Given the description of an element on the screen output the (x, y) to click on. 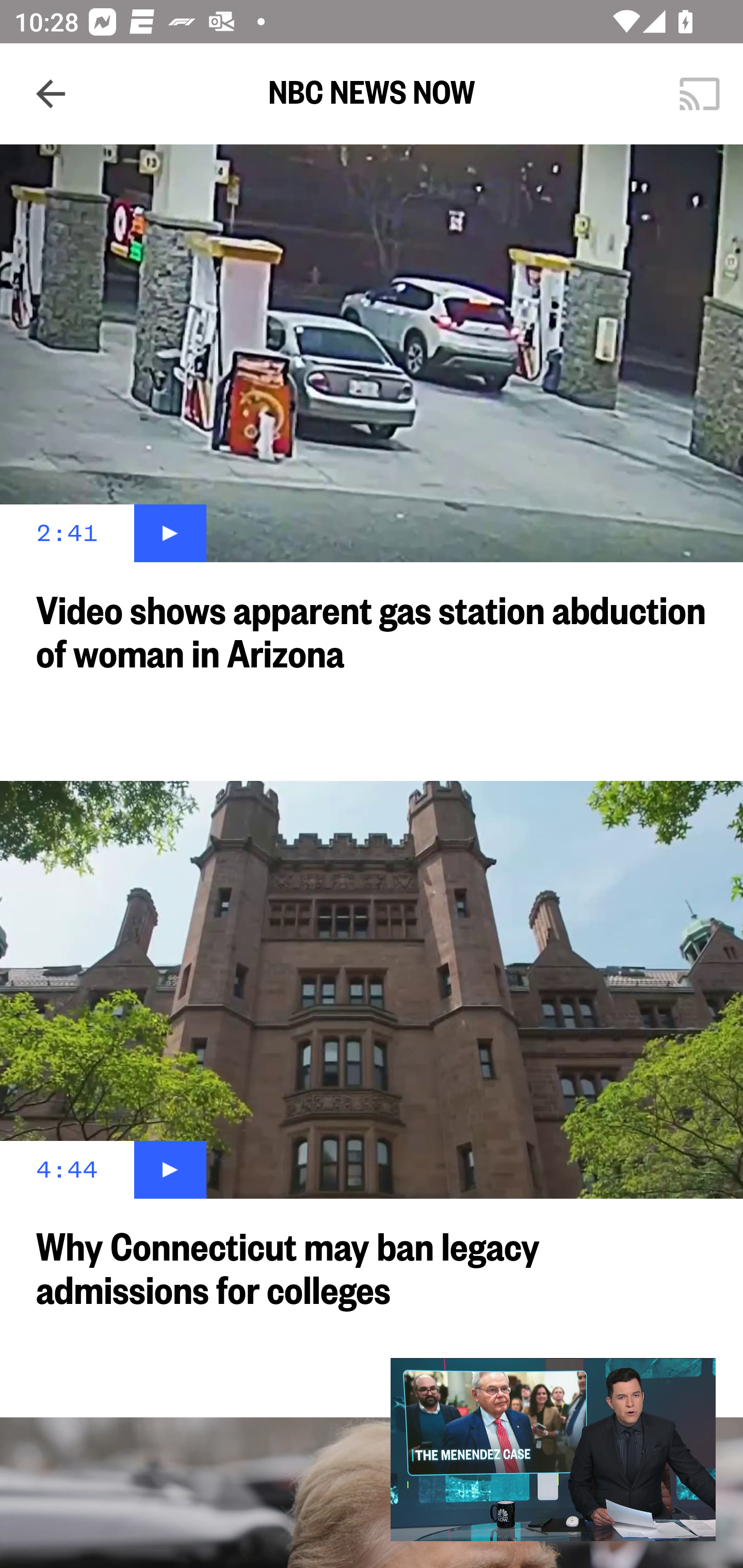
Navigate up (50, 93)
Cast. Disconnected (699, 93)
